Given the description of an element on the screen output the (x, y) to click on. 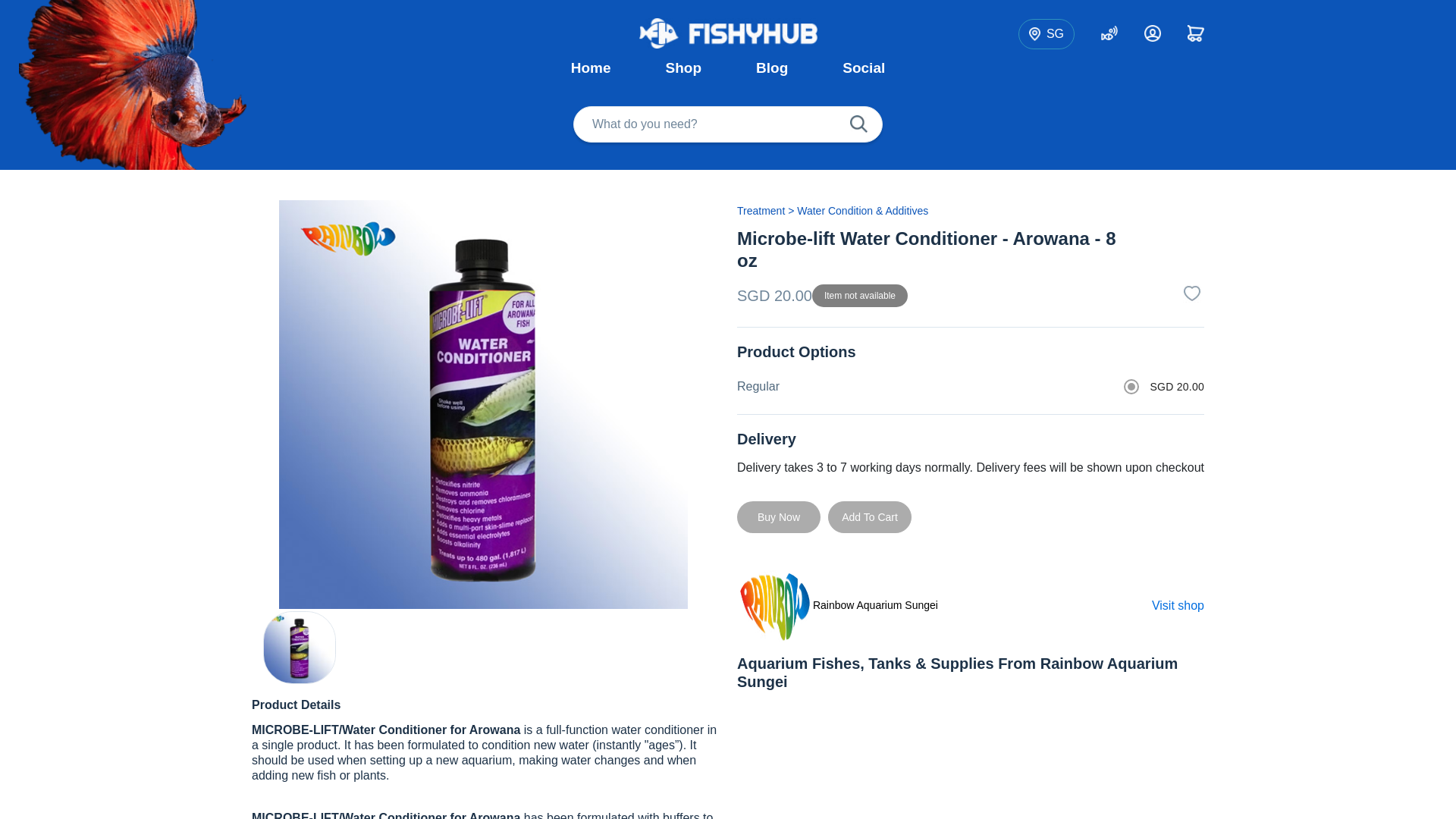
Blog (771, 67)
Rainbow Aquarium Sungei (836, 605)
Social (862, 67)
Treatment (760, 211)
Shop (683, 67)
Home (591, 67)
Buy Now (778, 517)
What do you need? (727, 124)
Add To Cart (869, 517)
